Given the description of an element on the screen output the (x, y) to click on. 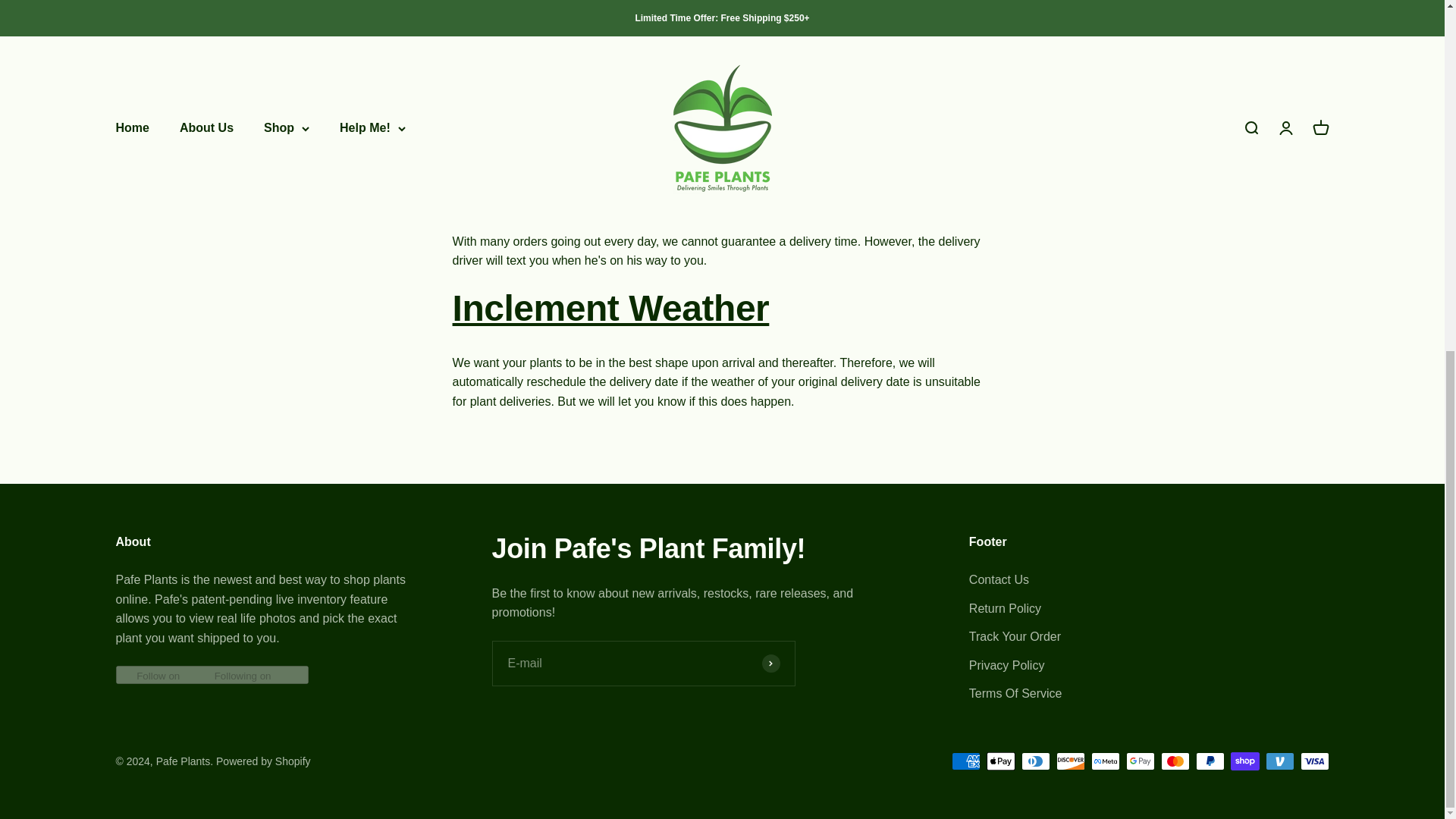
Track Your Order (1015, 637)
Privacy Policy (1007, 665)
Return Policy (1005, 608)
Subscribe (769, 663)
Contact Us (999, 579)
